Given the description of an element on the screen output the (x, y) to click on. 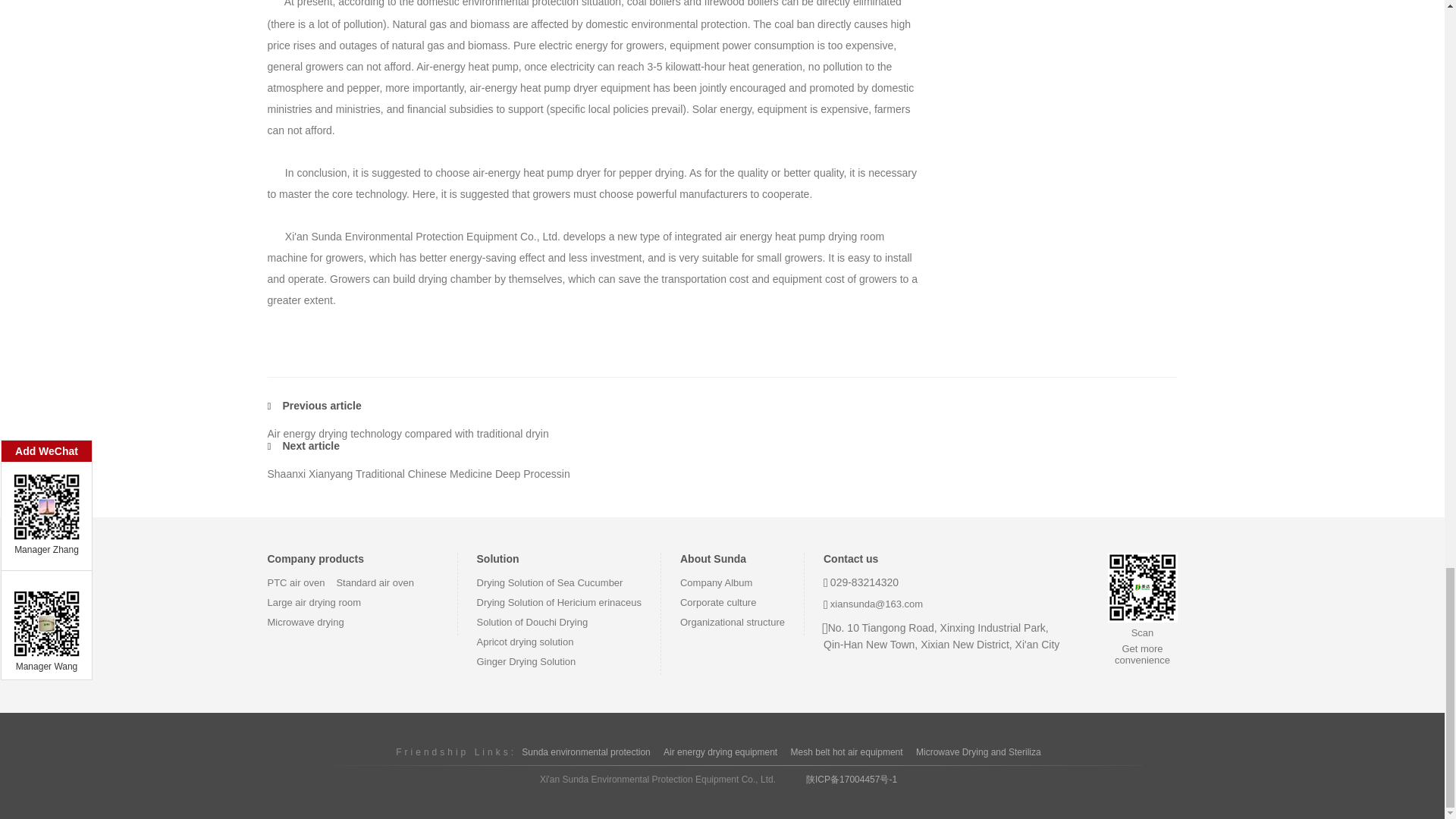
PTC air oven (295, 582)
Drying Solution of Hericium erinaceus (558, 602)
Organizational structure (731, 622)
Microwave drying (304, 622)
Drying Solution of Sea Cucumber (549, 582)
Solution of Douchi Drying (532, 622)
Corporate culture (717, 602)
Air energy drying technology compared with traditional dryin (407, 433)
Standard air oven (374, 582)
Large air drying room (313, 602)
Company Album (715, 582)
Apricot drying solution (524, 641)
Shaanxi Xianyang Traditional Chinese Medicine Deep Processin (417, 473)
Ginger Drying Solution (525, 661)
